Given the description of an element on the screen output the (x, y) to click on. 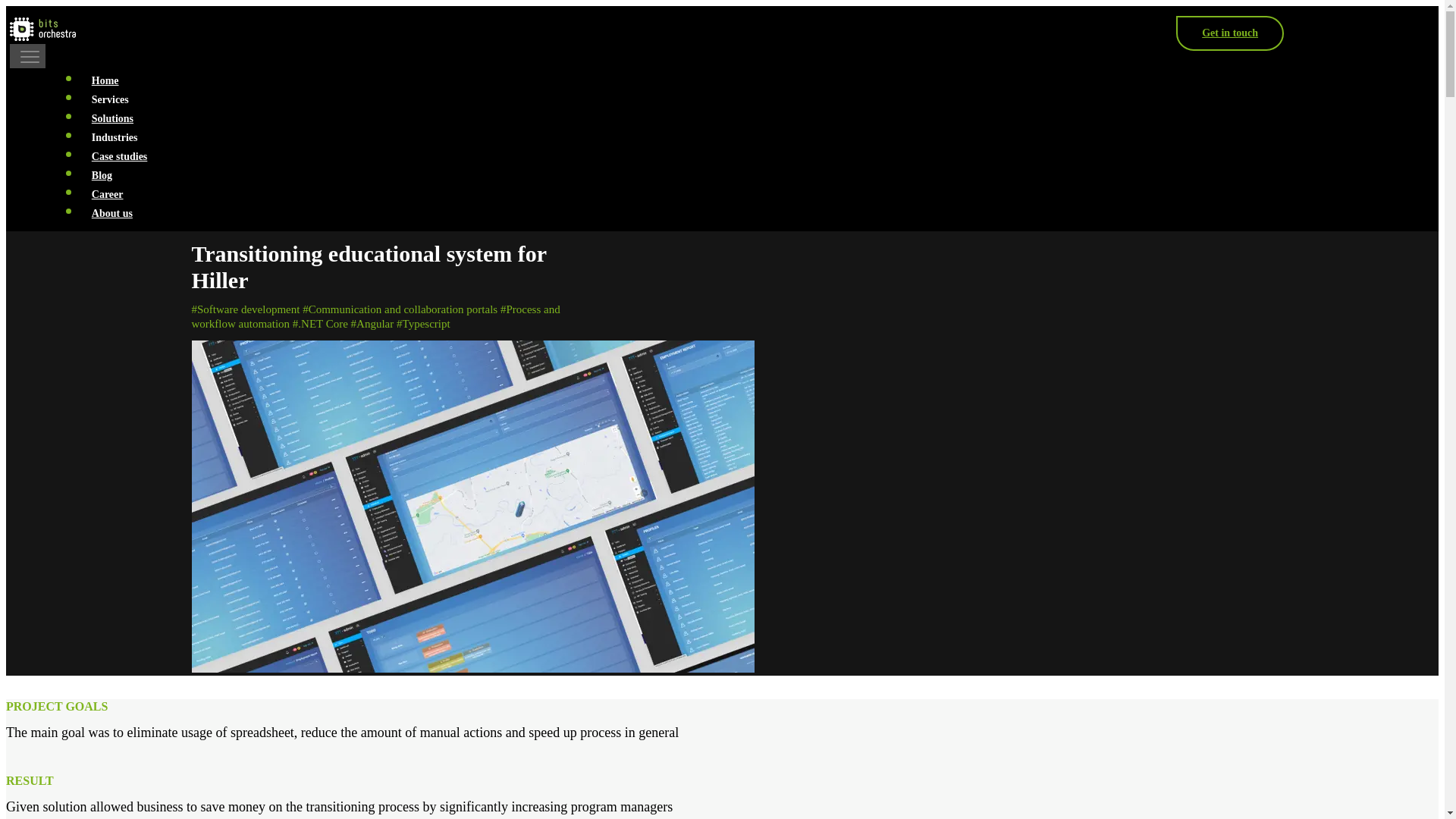
About us (111, 213)
Home (104, 80)
Get in touch (1230, 32)
Career (106, 194)
Case studies (119, 156)
Blog (101, 174)
Solutions (111, 118)
